Given the description of an element on the screen output the (x, y) to click on. 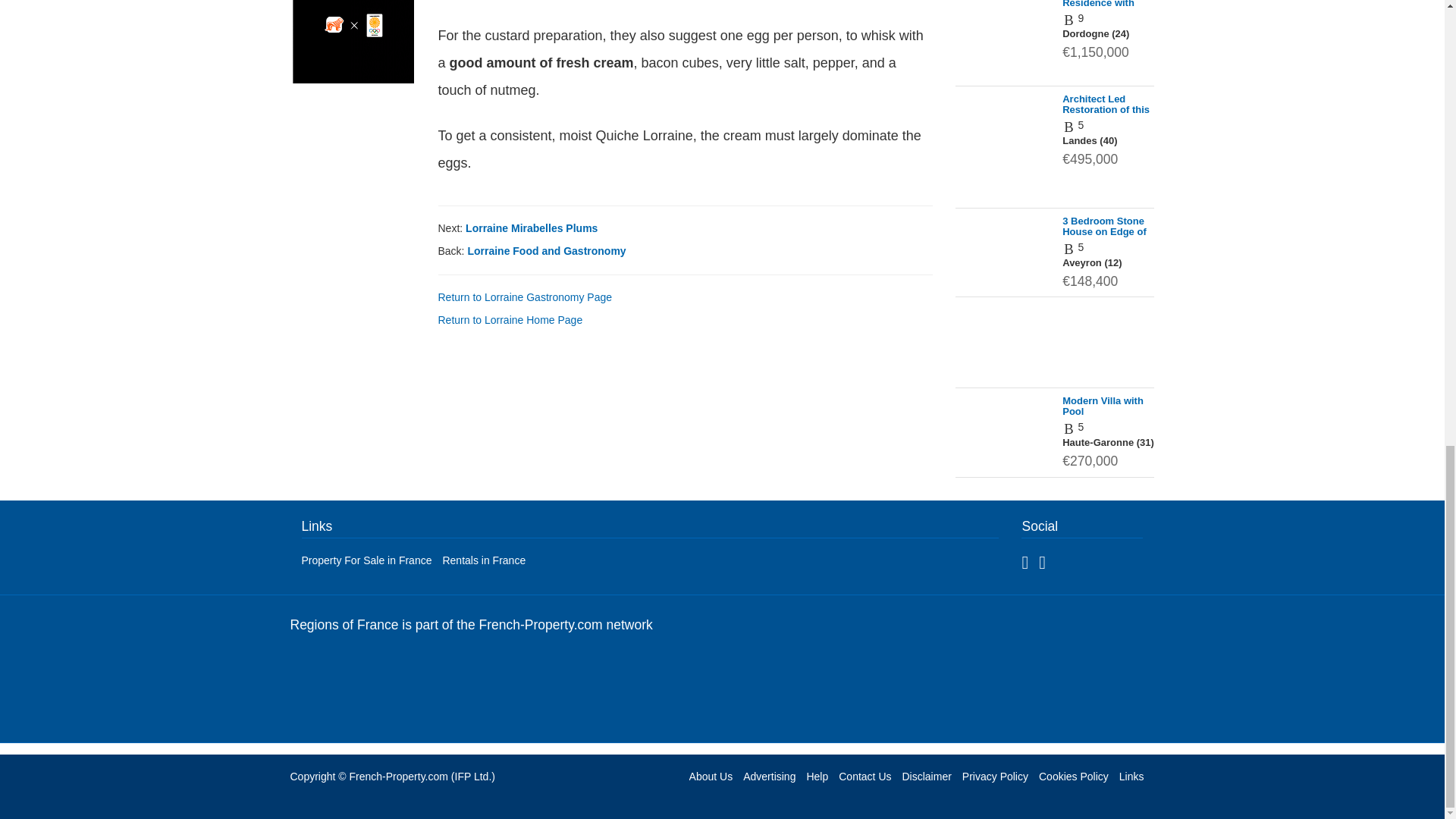
Lorraine Food and Gastronomy (546, 250)
Return to Lorraine Home Page (510, 319)
Return to Lorraine Gastronomy Page (525, 297)
Lorraine Mirabelles Plums (530, 227)
